Given the description of an element on the screen output the (x, y) to click on. 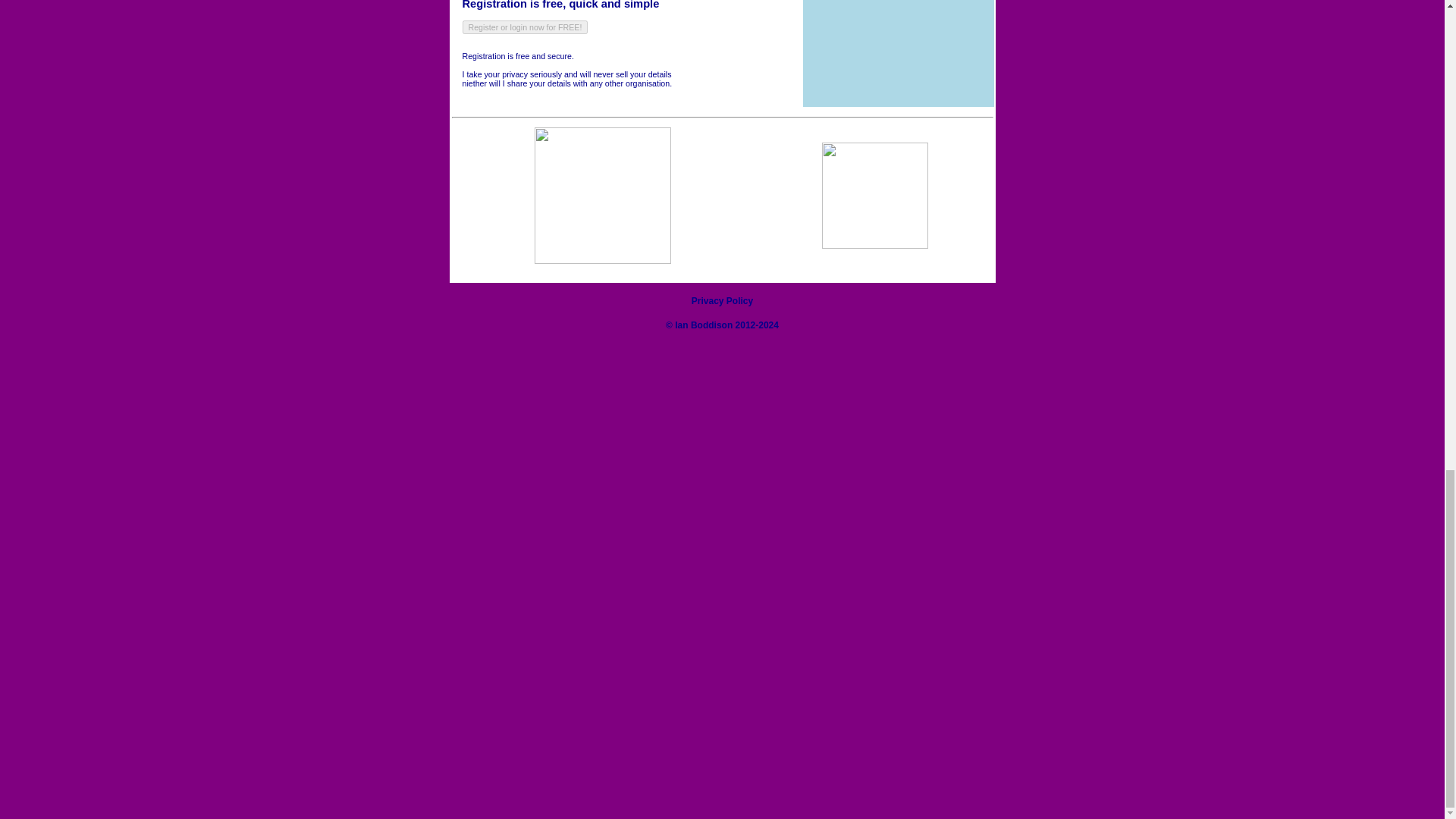
Privacy Policy (721, 300)
Register or login now for FREE! (525, 27)
Ian Boddison (703, 325)
